Given the description of an element on the screen output the (x, y) to click on. 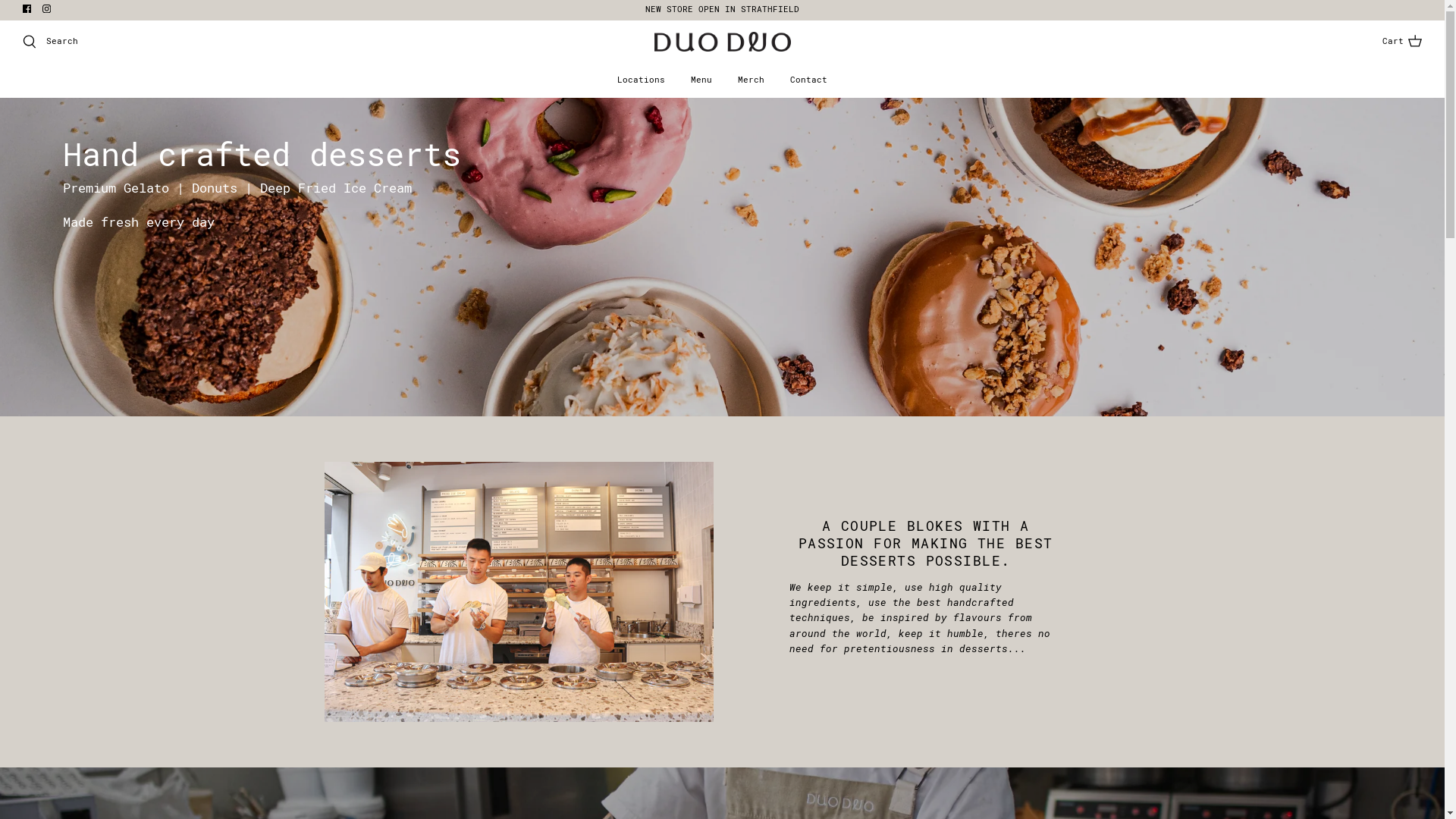
Merch Element type: text (1000, 106)
NEW STORE OPEN IN STRATHFIELD Element type: text (963, 13)
Menu Element type: text (935, 106)
Contact Element type: text (1077, 106)
Duo Duo Element type: hover (963, 55)
Locations Element type: text (854, 106)
Search Element type: text (66, 55)
Facebook Element type: text (35, 11)
Instagram Element type: text (61, 11)
